Given the description of an element on the screen output the (x, y) to click on. 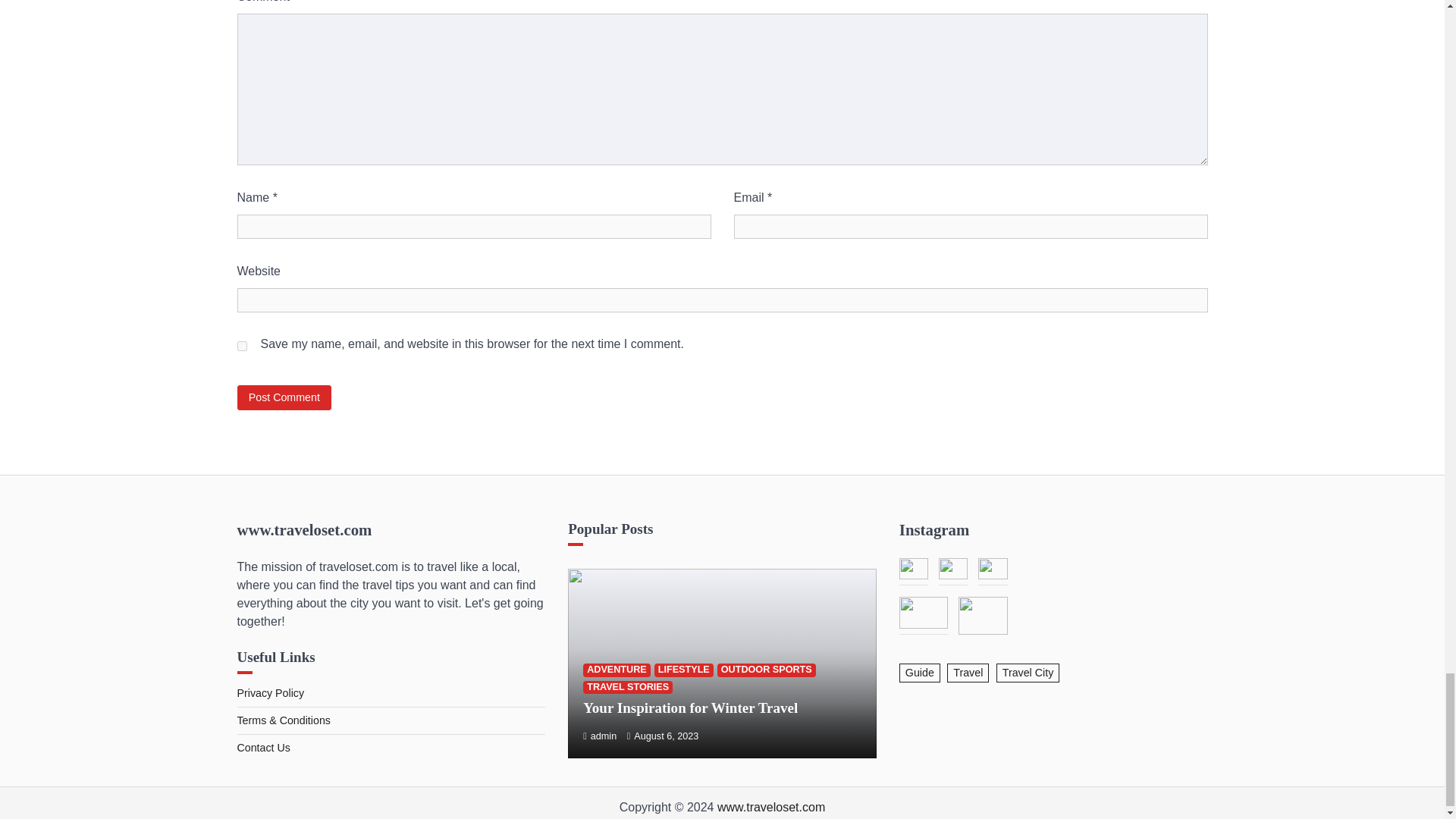
Post Comment (283, 397)
yes (240, 346)
